Given the description of an element on the screen output the (x, y) to click on. 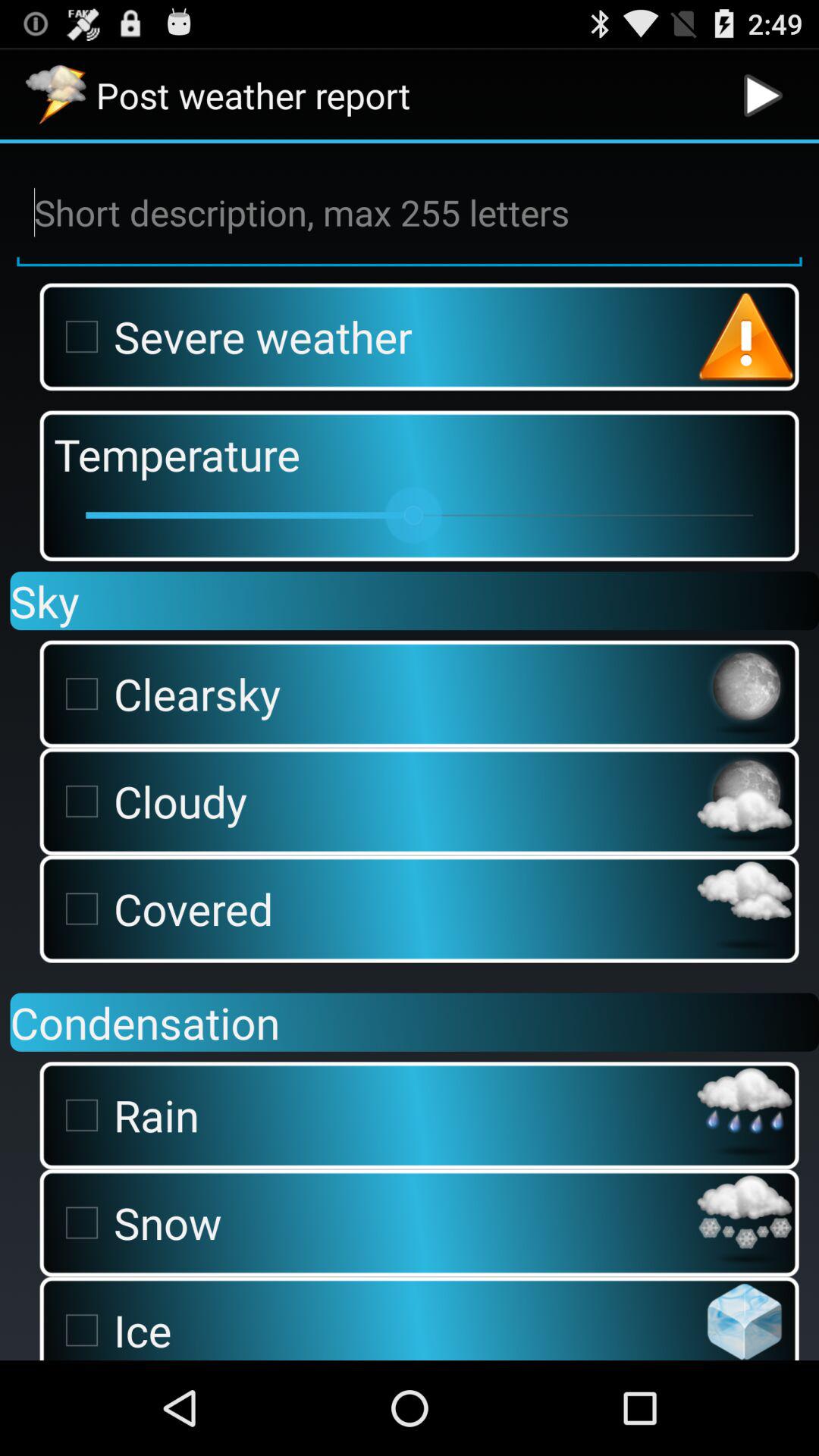
open app next to the post weather report app (763, 95)
